Given the description of an element on the screen output the (x, y) to click on. 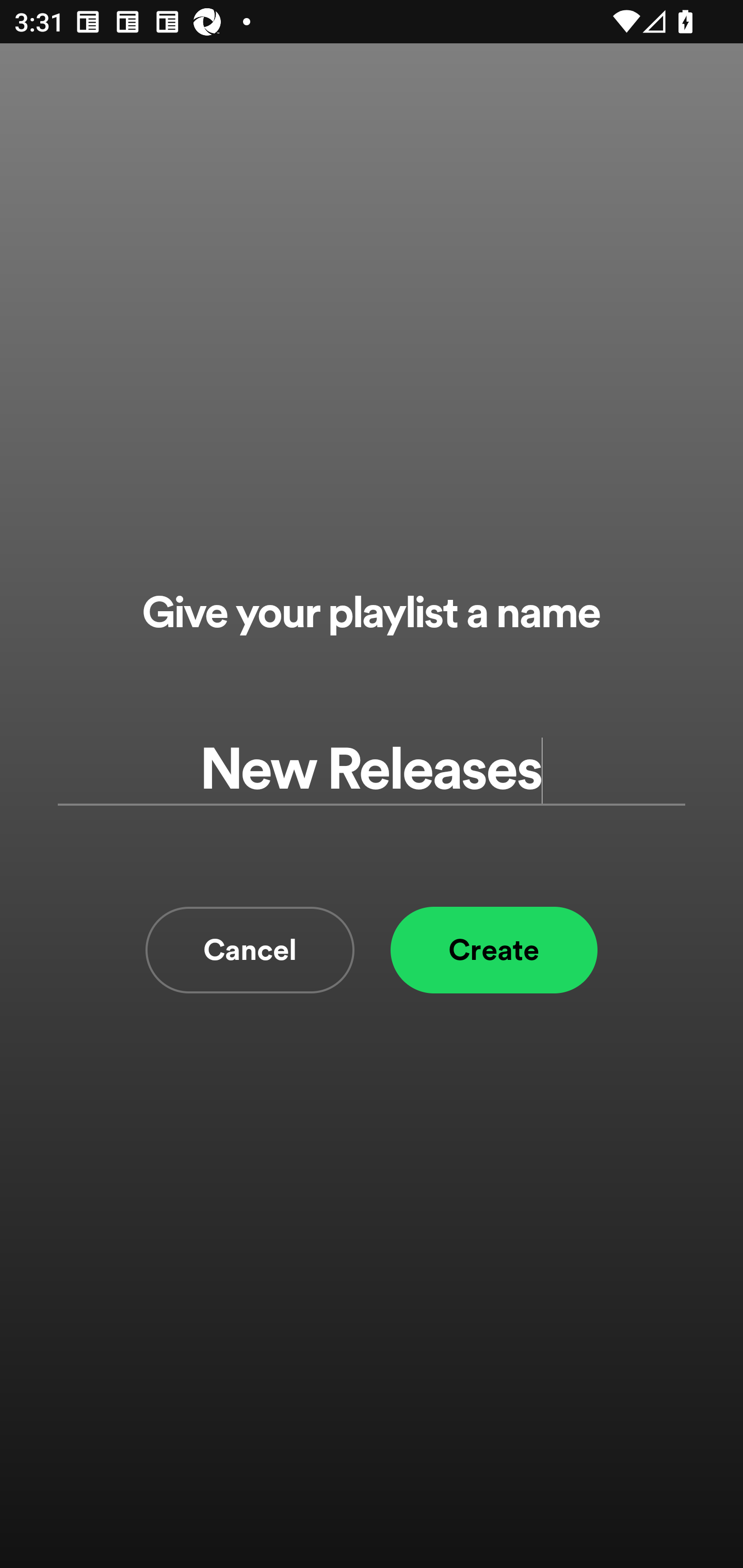
New Releases Add a playlist name (371, 769)
Cancel (249, 950)
Create (493, 950)
